Given the description of an element on the screen output the (x, y) to click on. 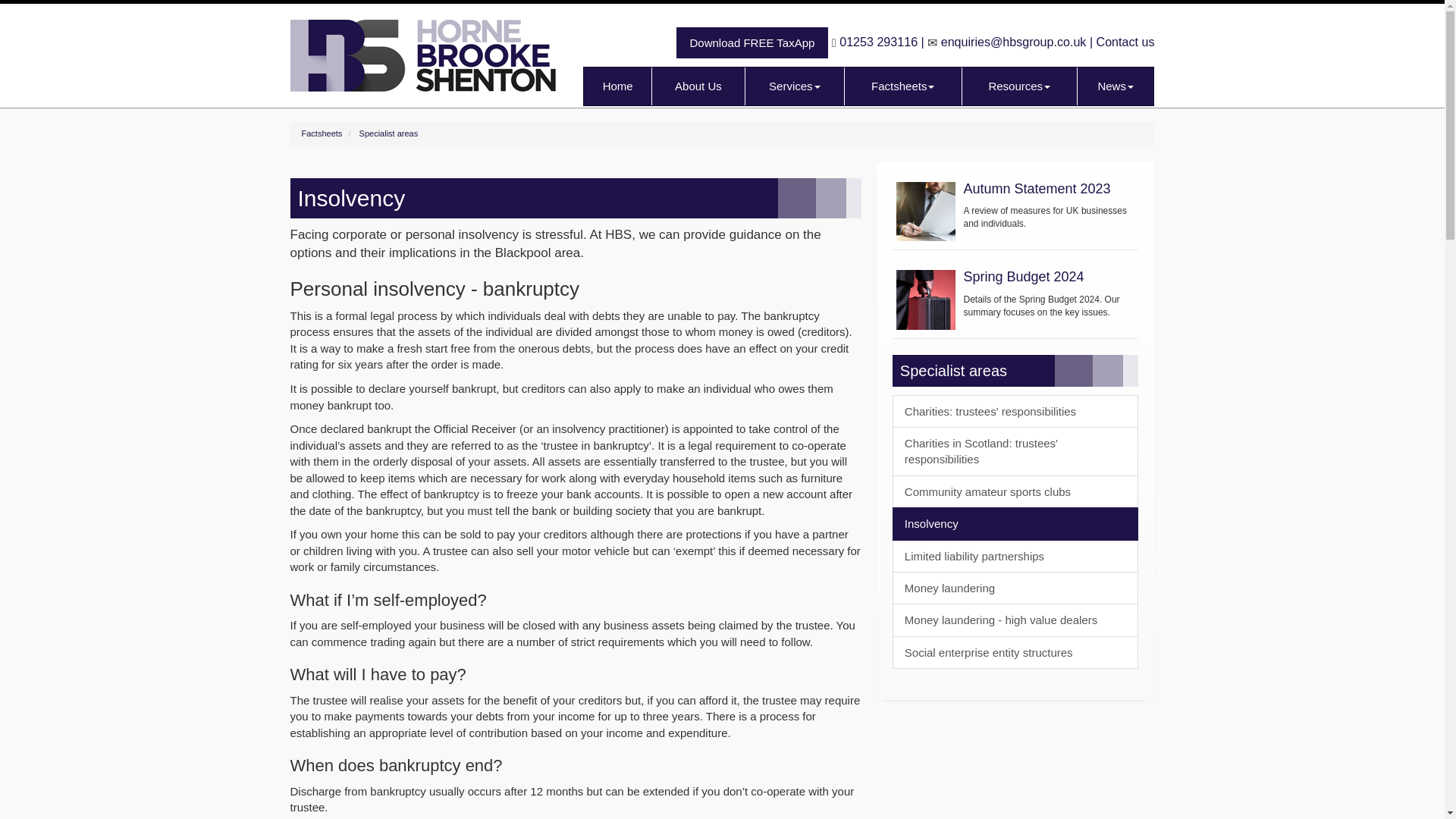
Services (794, 86)
Horne Brooke Shenton Accountants in Blackpool (428, 63)
Resources (1019, 86)
About Us (698, 86)
Contact us (1125, 41)
Factsheets (902, 86)
Services (794, 86)
Contact us (1125, 41)
About Us (698, 86)
Home (616, 86)
Download FREE TaxApp (752, 42)
Home (616, 86)
Factsheets (902, 86)
